Given the description of an element on the screen output the (x, y) to click on. 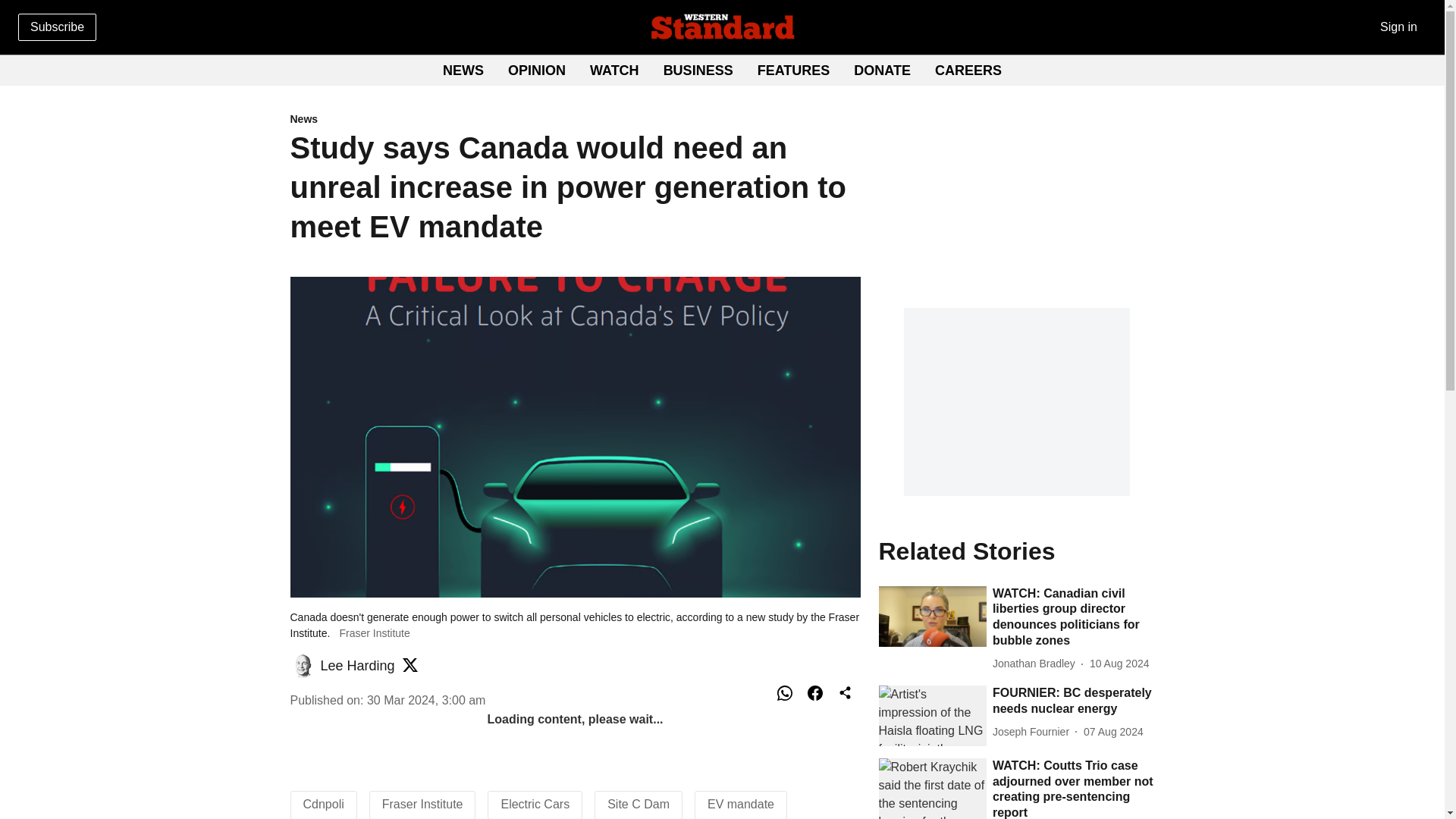
2024-08-06 17:35 (1112, 731)
2024-08-09 17:23 (1119, 663)
Lee Harding (357, 665)
CAREERS (967, 70)
WATCH (614, 70)
BUSINESS (721, 70)
DONATE (698, 70)
News (882, 70)
FEATURES (574, 119)
